Given the description of an element on the screen output the (x, y) to click on. 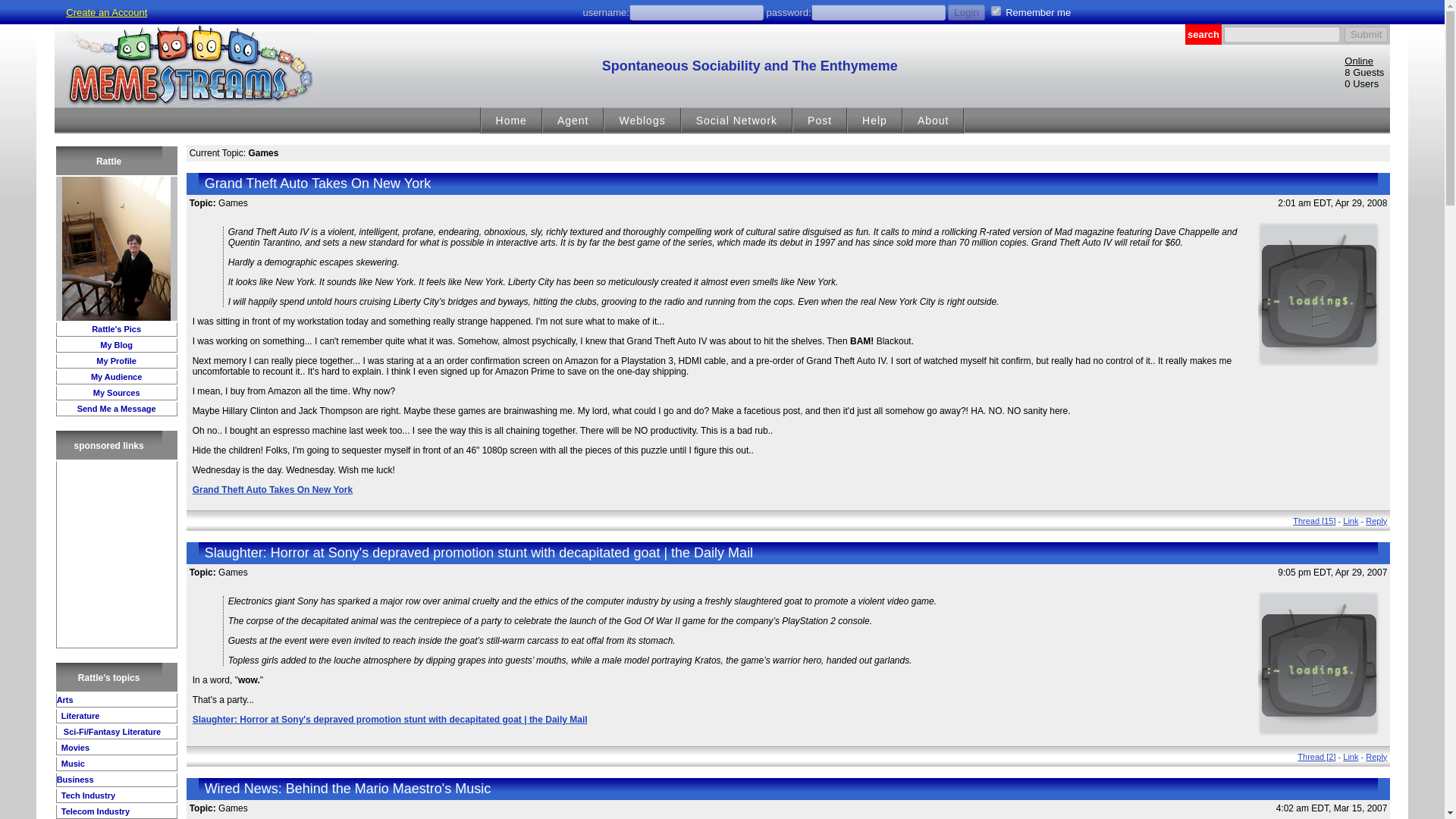
yes (996, 10)
0 Users (1360, 83)
Social Network (736, 120)
Weblogs (641, 120)
Telecom Industry (94, 810)
My Audience (115, 376)
Music (71, 763)
My Blog (116, 344)
Movies (73, 747)
Login (966, 12)
My Sources (116, 392)
Send Me a Message (116, 408)
Arts (65, 699)
Home (510, 120)
About (933, 120)
